Given the description of an element on the screen output the (x, y) to click on. 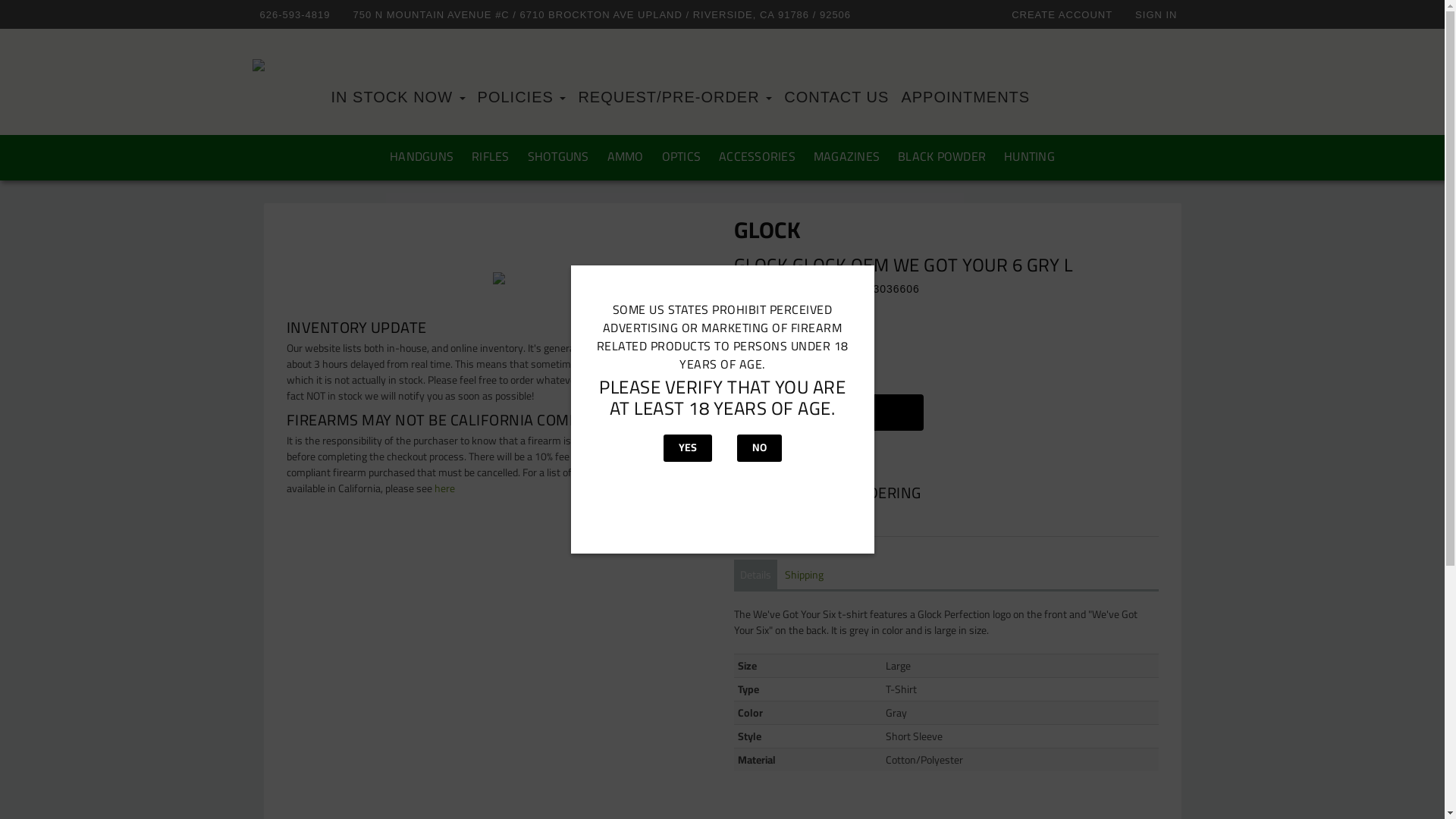
CREATE ACCOUNT Element type: text (1065, 13)
OPTICS Element type: text (681, 156)
here Element type: text (443, 488)
POLICIES Element type: text (521, 96)
RIFLES Element type: text (490, 156)
HUNTING Element type: text (1028, 156)
Shipping Element type: text (803, 574)
SHOTGUNS Element type: text (558, 156)
626-593-4819 Element type: text (298, 13)
ADD TO CART Element type: text (836, 416)
ACCESSORIES Element type: text (756, 156)
IN STOCK NOW Element type: text (397, 96)
ADD TO CART Element type: text (828, 412)
YES Element type: text (686, 447)
HANDGUNS Element type: text (421, 156)
SIGN IN Element type: text (1159, 13)
AMMO Element type: text (625, 156)
APPOINTMENTS Element type: text (964, 96)
MAGAZINES Element type: text (846, 156)
NO Element type: text (759, 447)
BLACK POWDER Element type: text (941, 156)
CONTACT US Element type: text (836, 96)
REQUEST/PRE-ORDER Element type: text (674, 96)
Details Element type: text (755, 574)
